Given the description of an element on the screen output the (x, y) to click on. 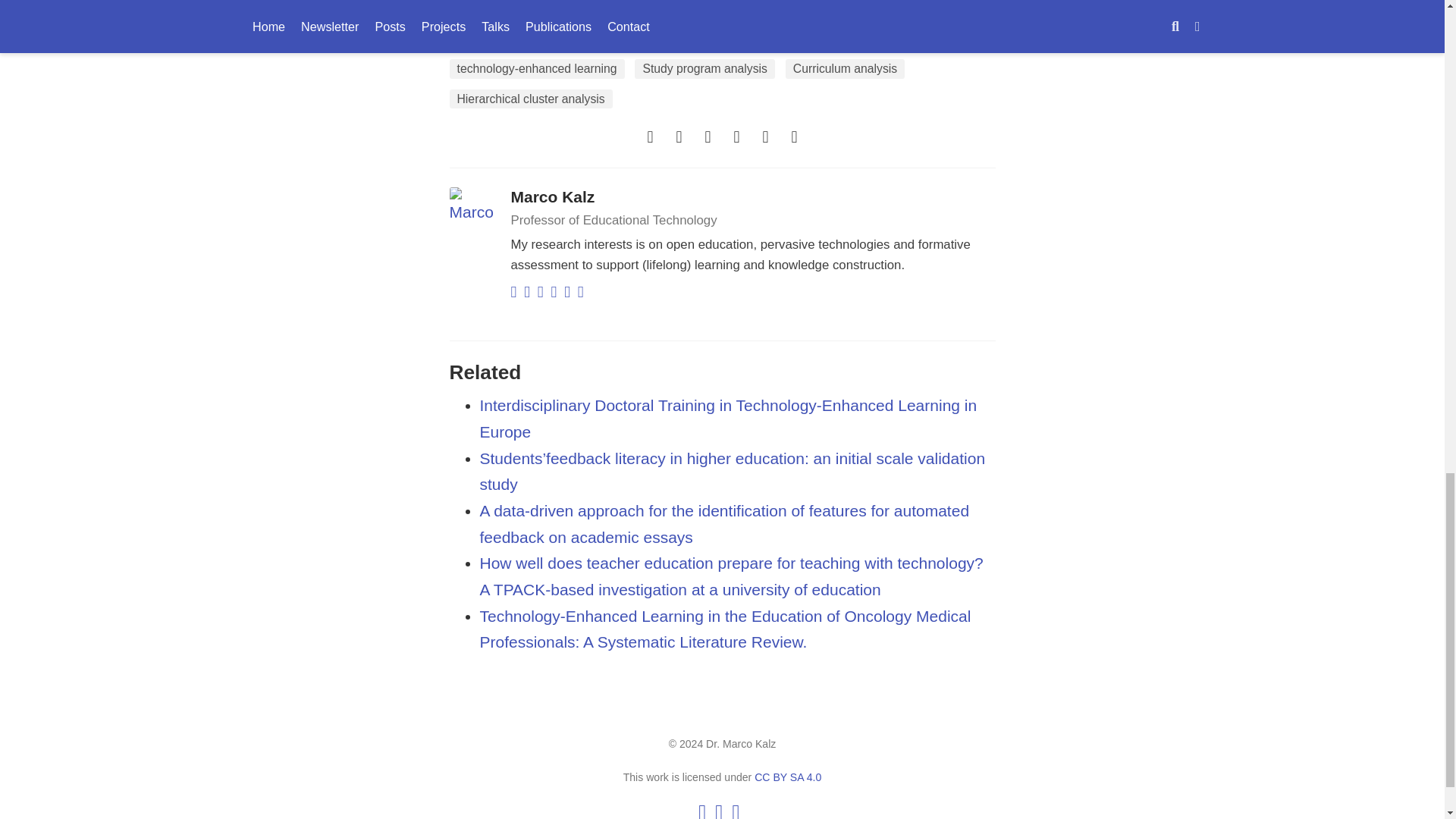
technology-enhanced learning (536, 68)
Hierarchical cluster analysis (529, 98)
Curriculum analysis (845, 68)
Marco Kalz (553, 196)
Study program analysis (704, 68)
